Given the description of an element on the screen output the (x, y) to click on. 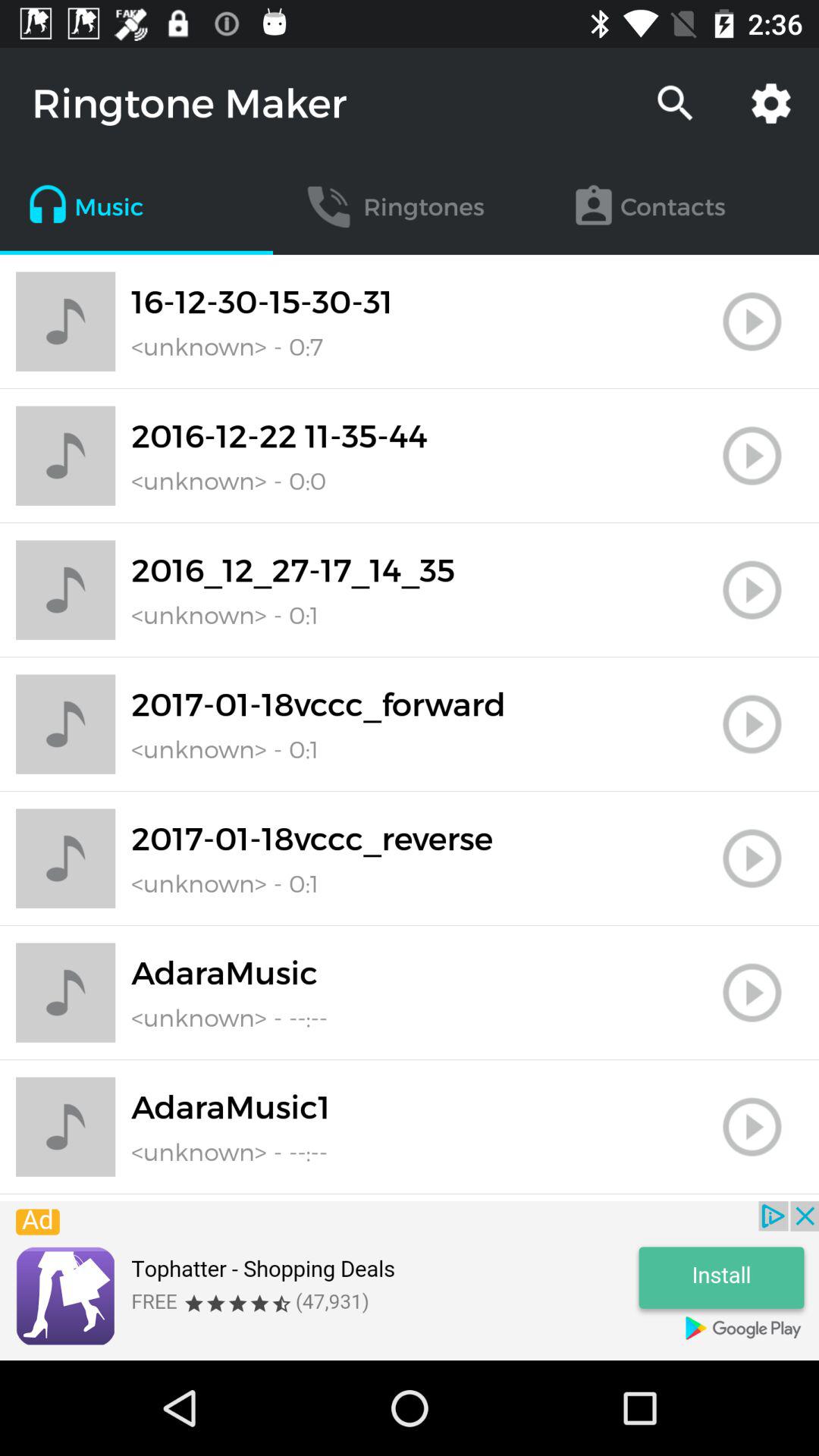
play button (752, 1126)
